Given the description of an element on the screen output the (x, y) to click on. 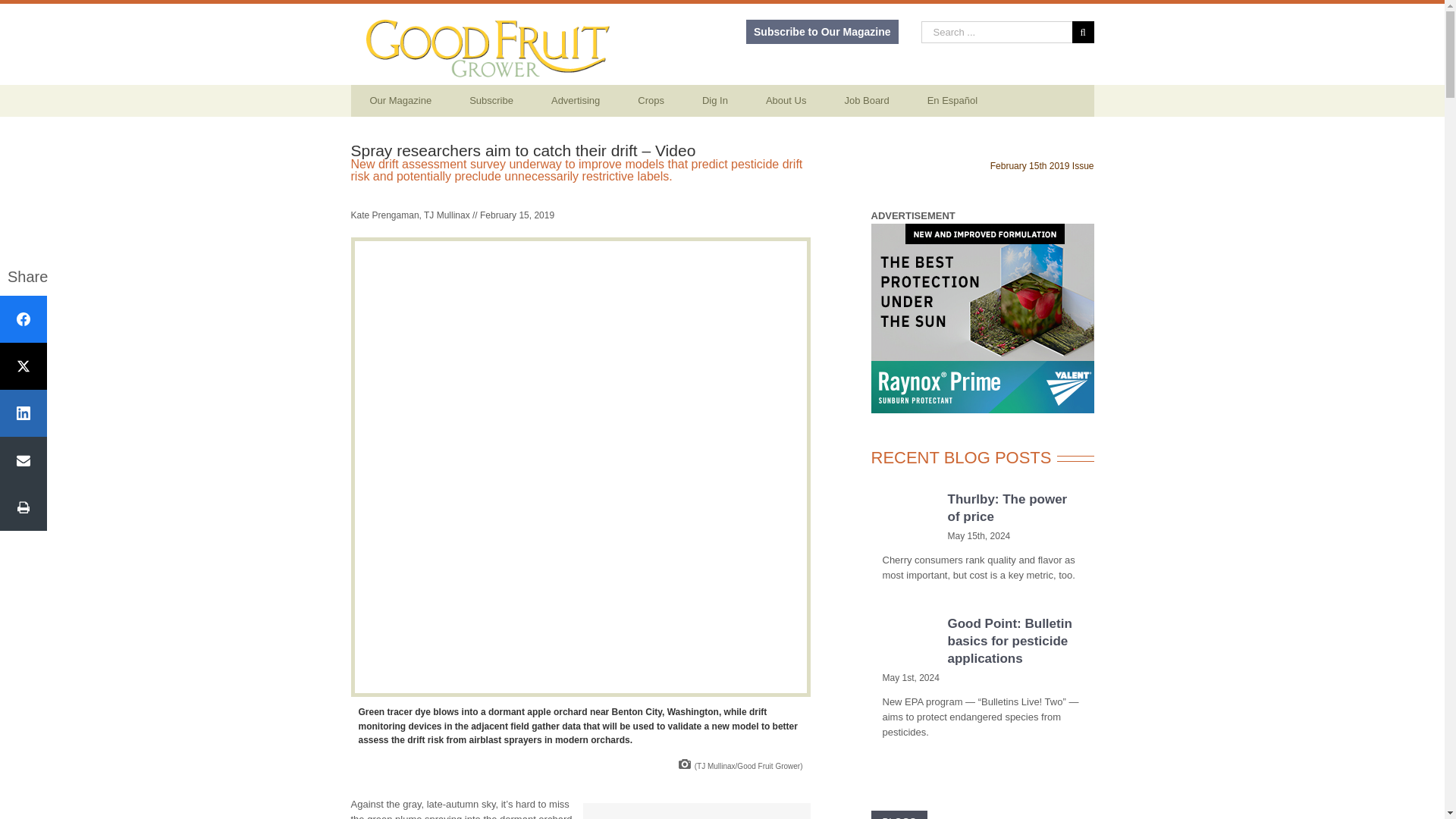
Advertising (575, 101)
About Us (785, 101)
Subscribe to Our Magazine (821, 31)
3rd party ad content (981, 318)
Our Magazine (400, 101)
Subscribe (490, 101)
